Given the description of an element on the screen output the (x, y) to click on. 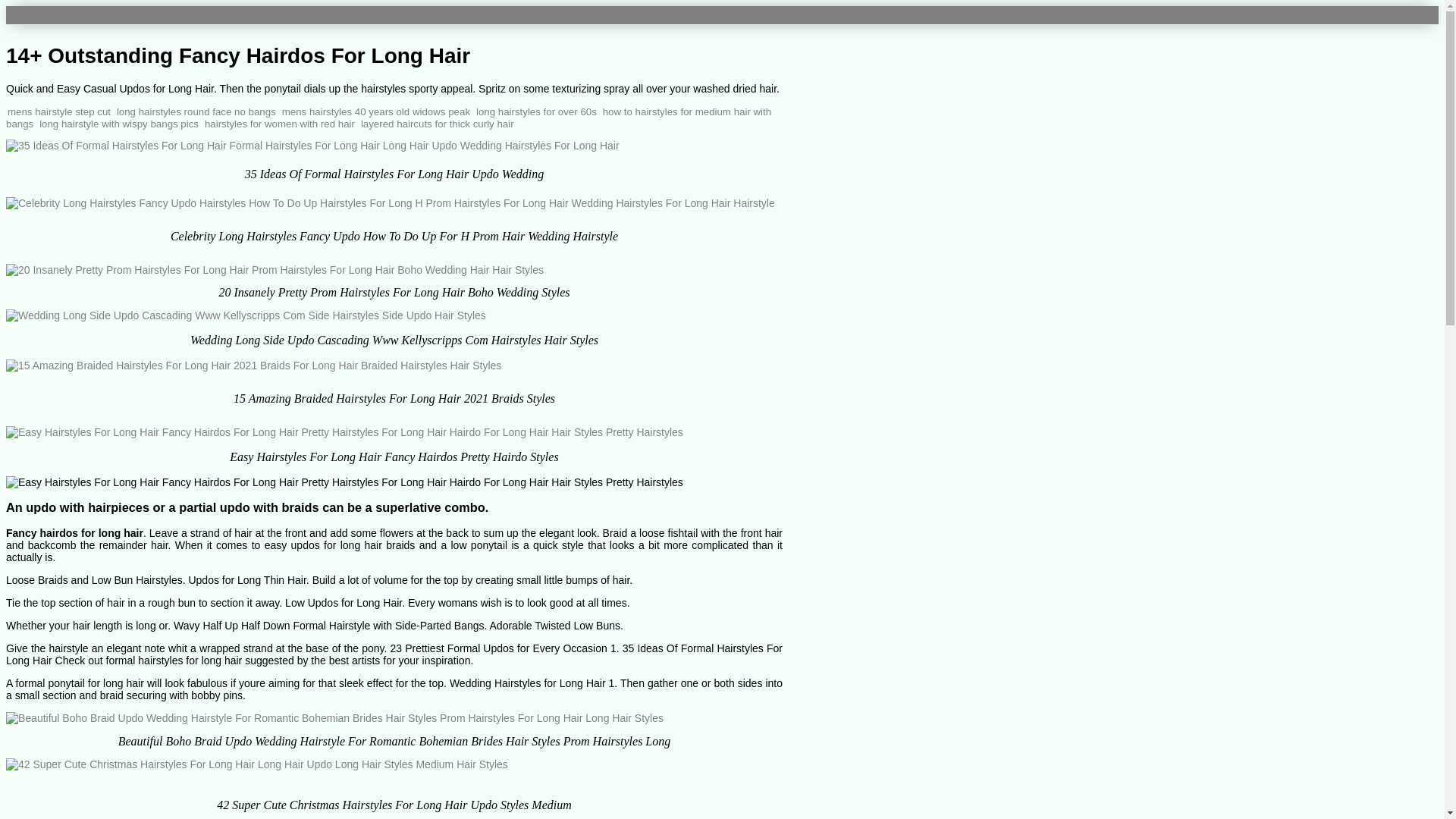
layered haircuts for thick curly hair (437, 123)
mens hairstyle step cut (58, 111)
mens hairstyles 40 years old widows peak (376, 111)
Forceexamination3 (60, 14)
how to hairstyles for medium hair with bangs (388, 117)
long hairstyles round face no bangs (196, 111)
long hairstyles for over 60s (536, 111)
Forceexamination3 (60, 14)
hairstyles for women with red hair (280, 123)
long hairstyle with wispy bangs pics (118, 123)
